Given the description of an element on the screen output the (x, y) to click on. 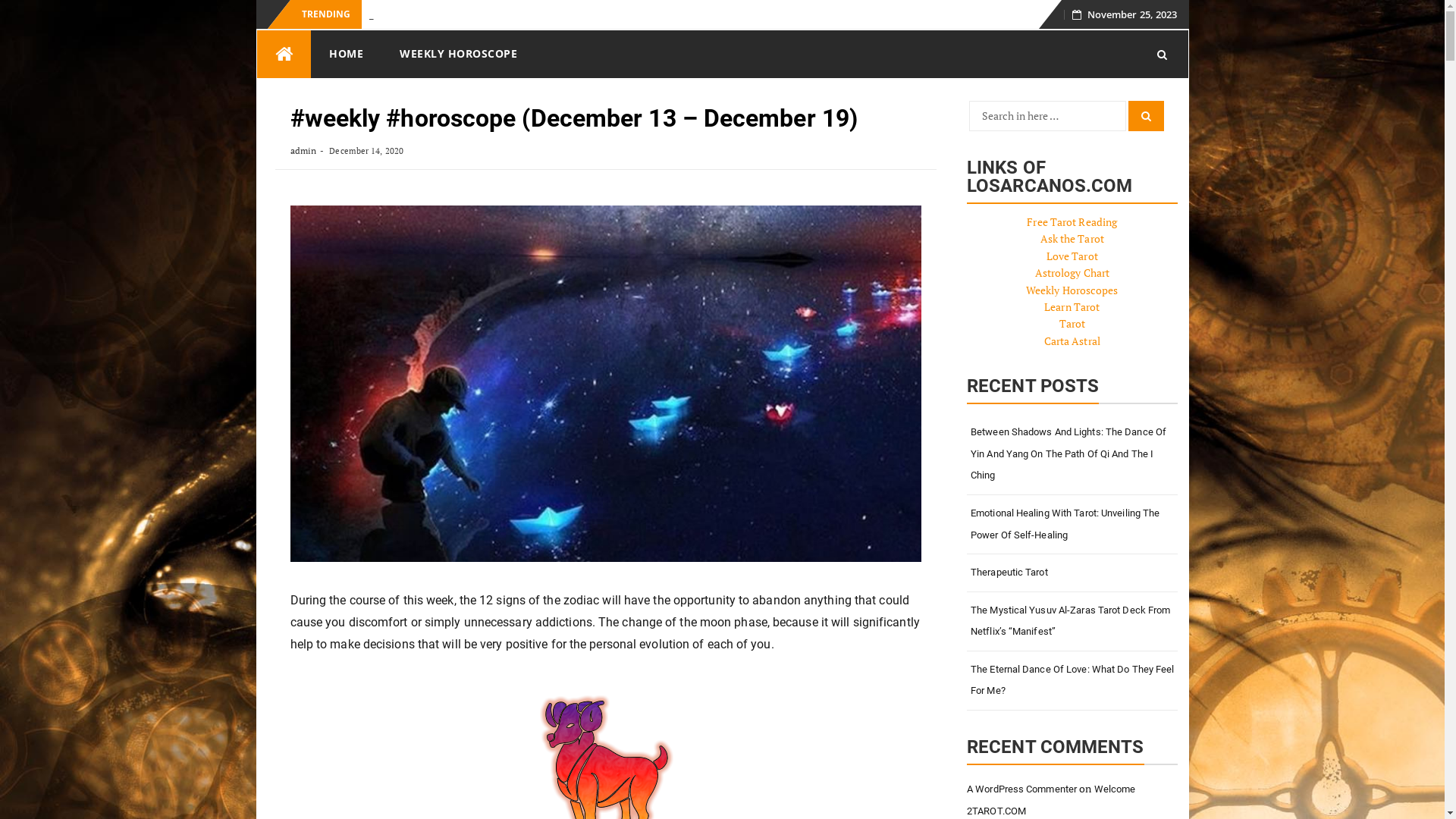
Free Tarot Reading Element type: text (1071, 221)
Tarot Element type: text (1071, 323)
Astrology Chart Element type: text (1071, 272)
admin Element type: text (302, 150)
The Eternal Dance Of Love: What Do They Feel For Me? Element type: text (1071, 680)
Search for: Element type: hover (1047, 115)
Learn Tarot Element type: text (1071, 306)
Skip to content Element type: text (1053, 17)
Weekly Horoscopes Element type: text (1072, 289)
Skip to content Element type: text (256, 29)
A WordPress Commenter Element type: text (1021, 788)
Love Tarot Element type: text (1072, 255)
Welcome 2TAROT.COM Element type: text (1050, 799)
Search Element type: text (1146, 115)
Therapeutic Tarot Element type: text (1071, 572)
Ask the Tarot Element type: text (1072, 238)
2Tarot.com Element type: hover (283, 54)
HOME Element type: text (345, 53)
WEEKLY HOROSCOPE Element type: text (458, 53)
Carta Astral Element type: text (1072, 340)
